Given the description of an element on the screen output the (x, y) to click on. 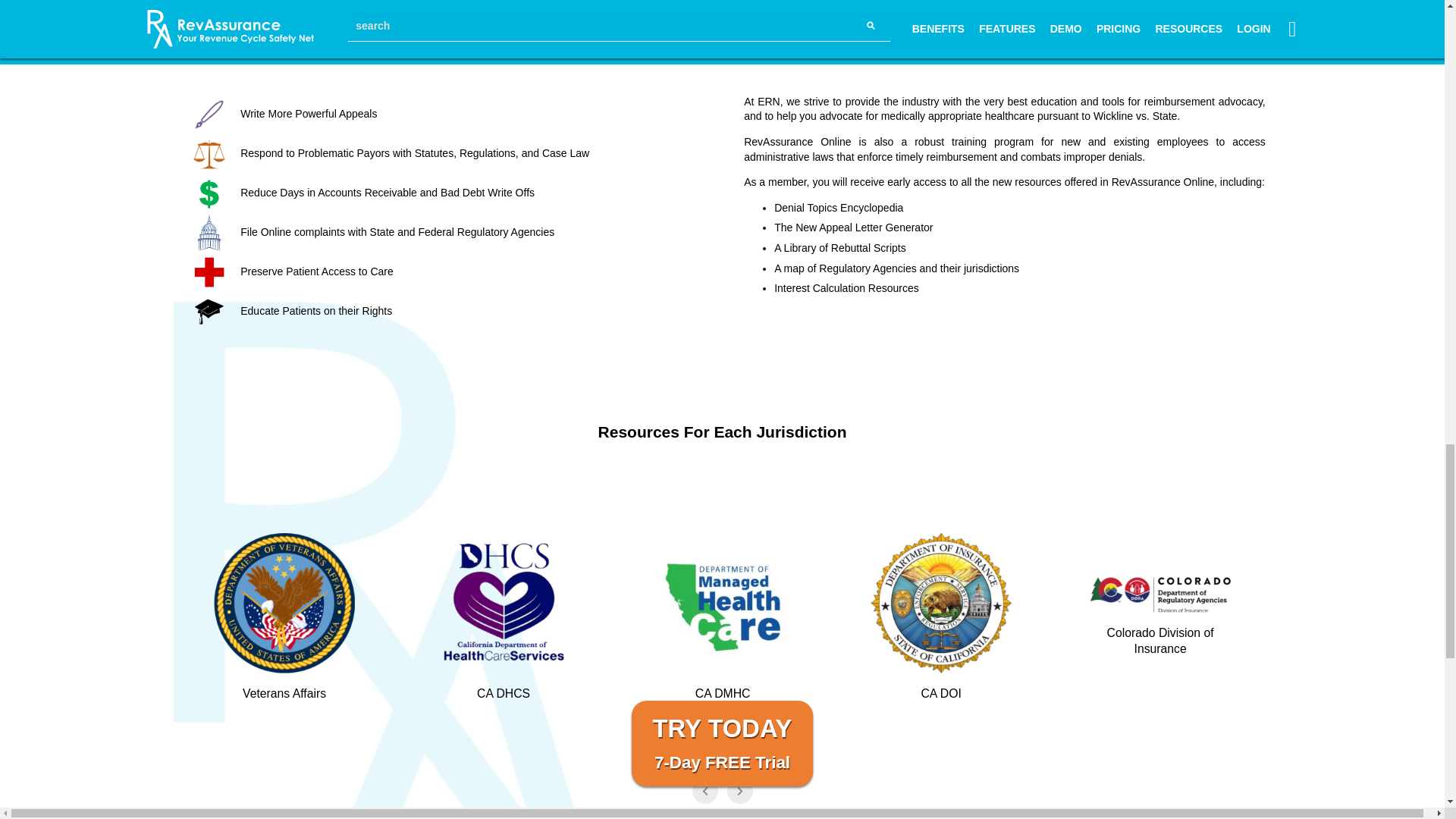
Veterans Affairs (307, 626)
